Given the description of an element on the screen output the (x, y) to click on. 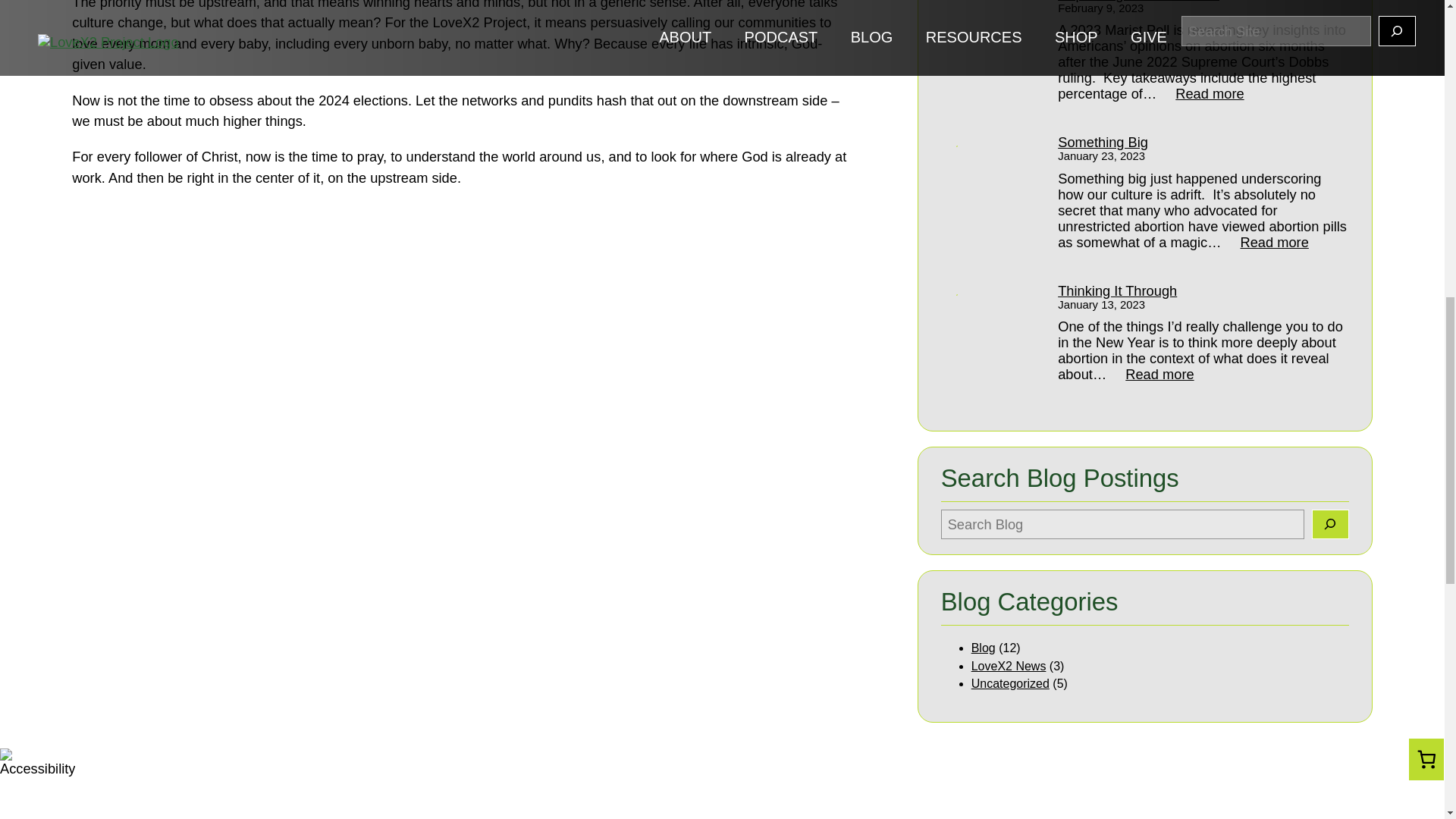
LoveX2 News (1008, 666)
Blog (983, 647)
Uncategorized (1010, 683)
Thinking It Through (1266, 242)
Something Big (1195, 290)
Unpacking The Marist Poll (1201, 93)
